Given the description of an element on the screen output the (x, y) to click on. 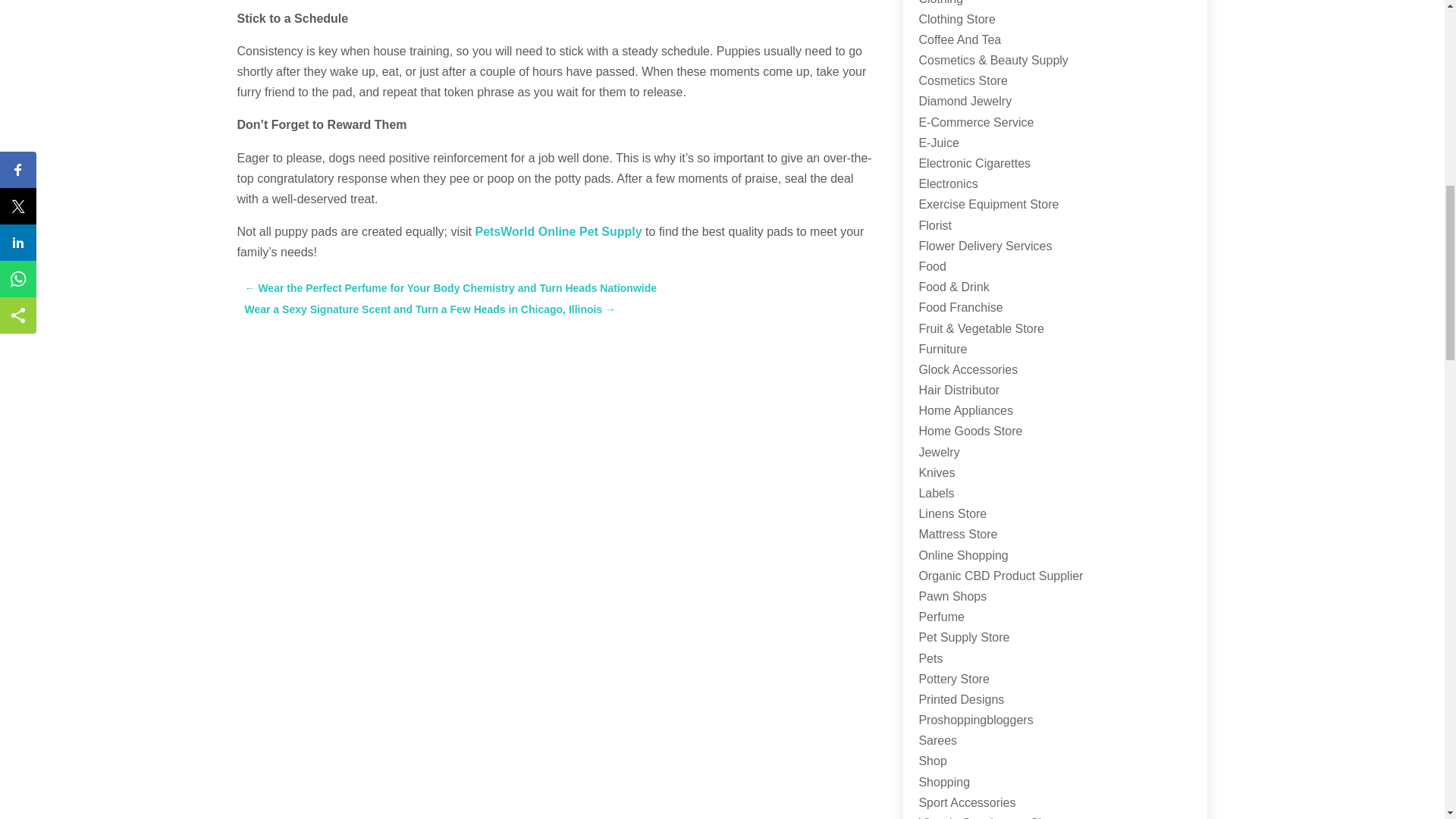
Florist (935, 225)
Cosmetics Store (962, 80)
Coffee And Tea (959, 39)
Electronic Cigarettes (974, 163)
E-Commerce Service (975, 122)
PetsWorld Online Pet Supply (558, 231)
Clothing (940, 2)
Flower Delivery Services (984, 245)
Electronics (947, 183)
E-Juice (938, 142)
Exercise Equipment Store (988, 204)
Diamond Jewelry (964, 101)
Clothing Store (956, 19)
